Given the description of an element on the screen output the (x, y) to click on. 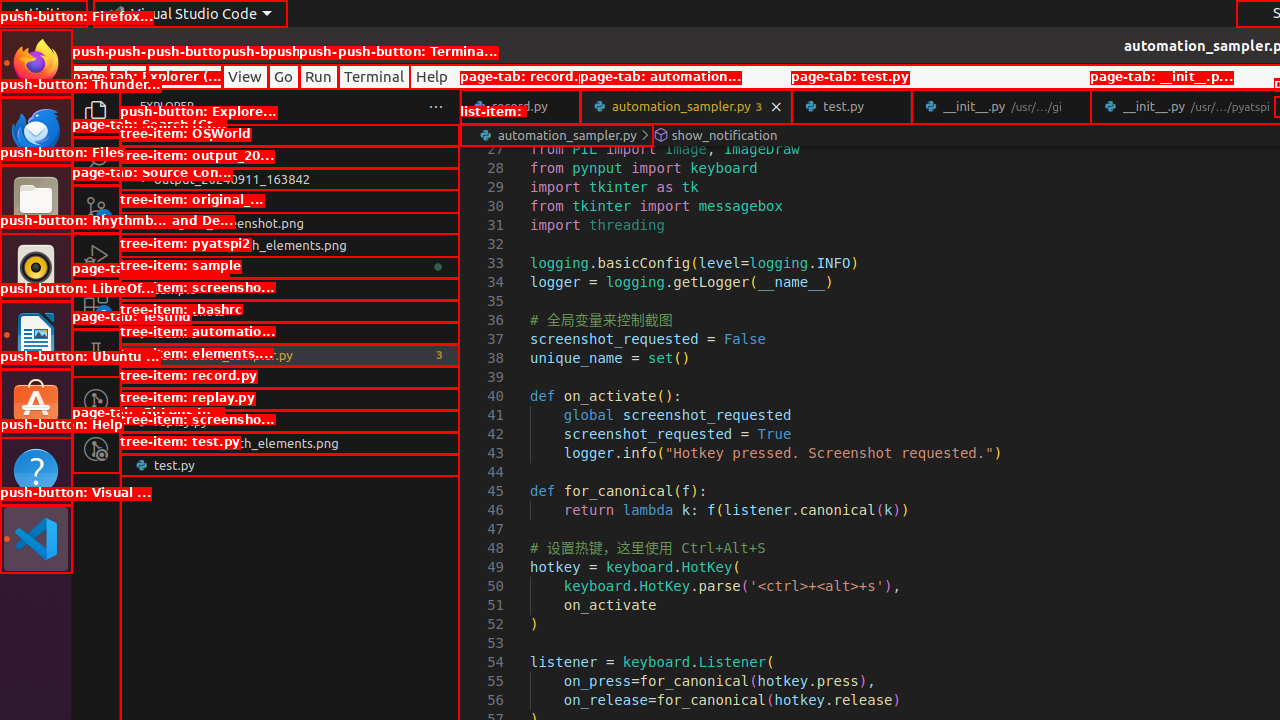
Terminal Element type: push-button (374, 76)
test.py Element type: tree-item (289, 465)
Source Control (Ctrl+Shift+G G) - 1 pending changes Element type: page-tab (96, 208)
pyatspi2 Element type: tree-item (289, 267)
replay.py Element type: tree-item (289, 421)
